Given the description of an element on the screen output the (x, y) to click on. 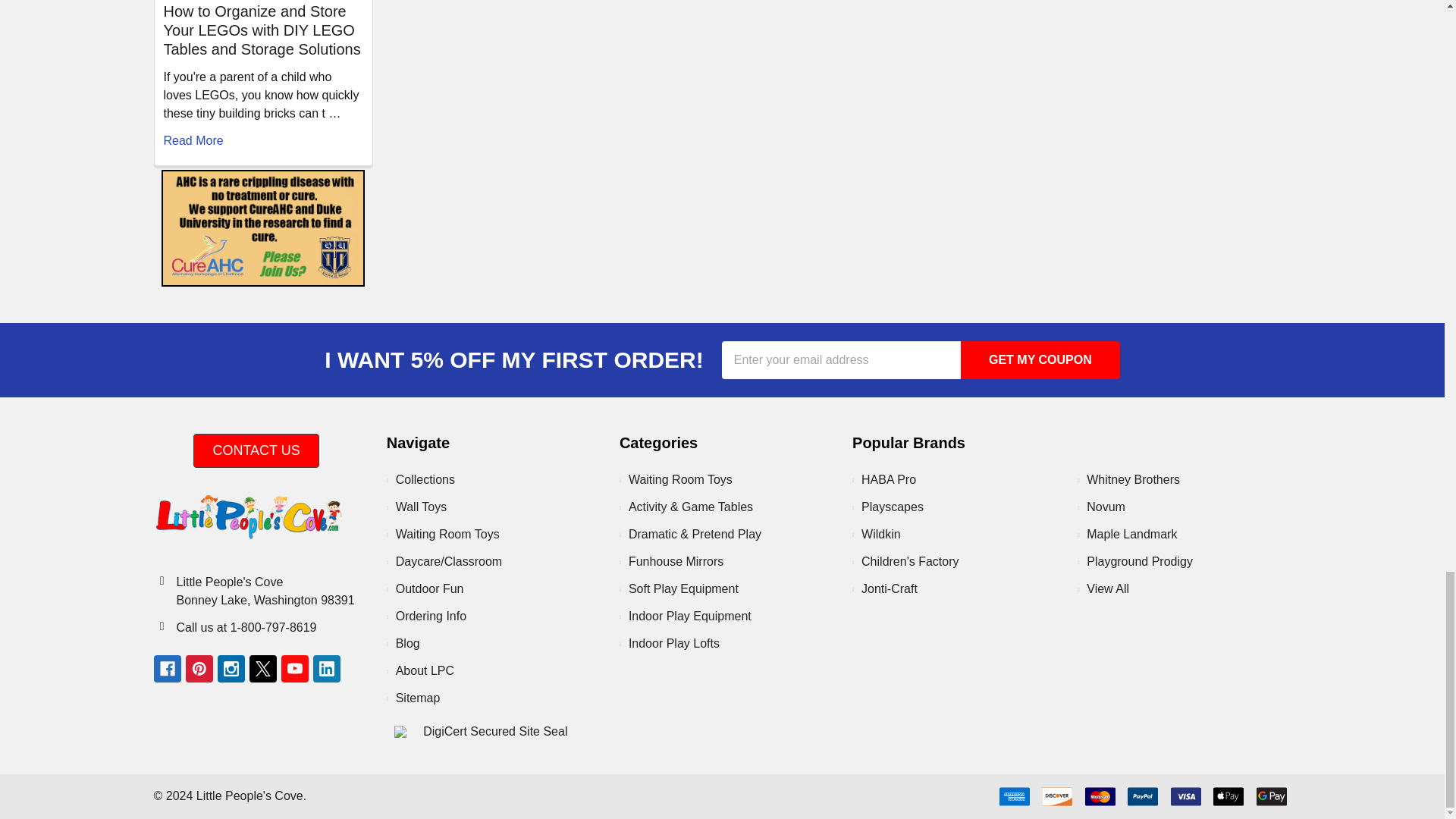
GET MY COUPON (1039, 360)
